Given the description of an element on the screen output the (x, y) to click on. 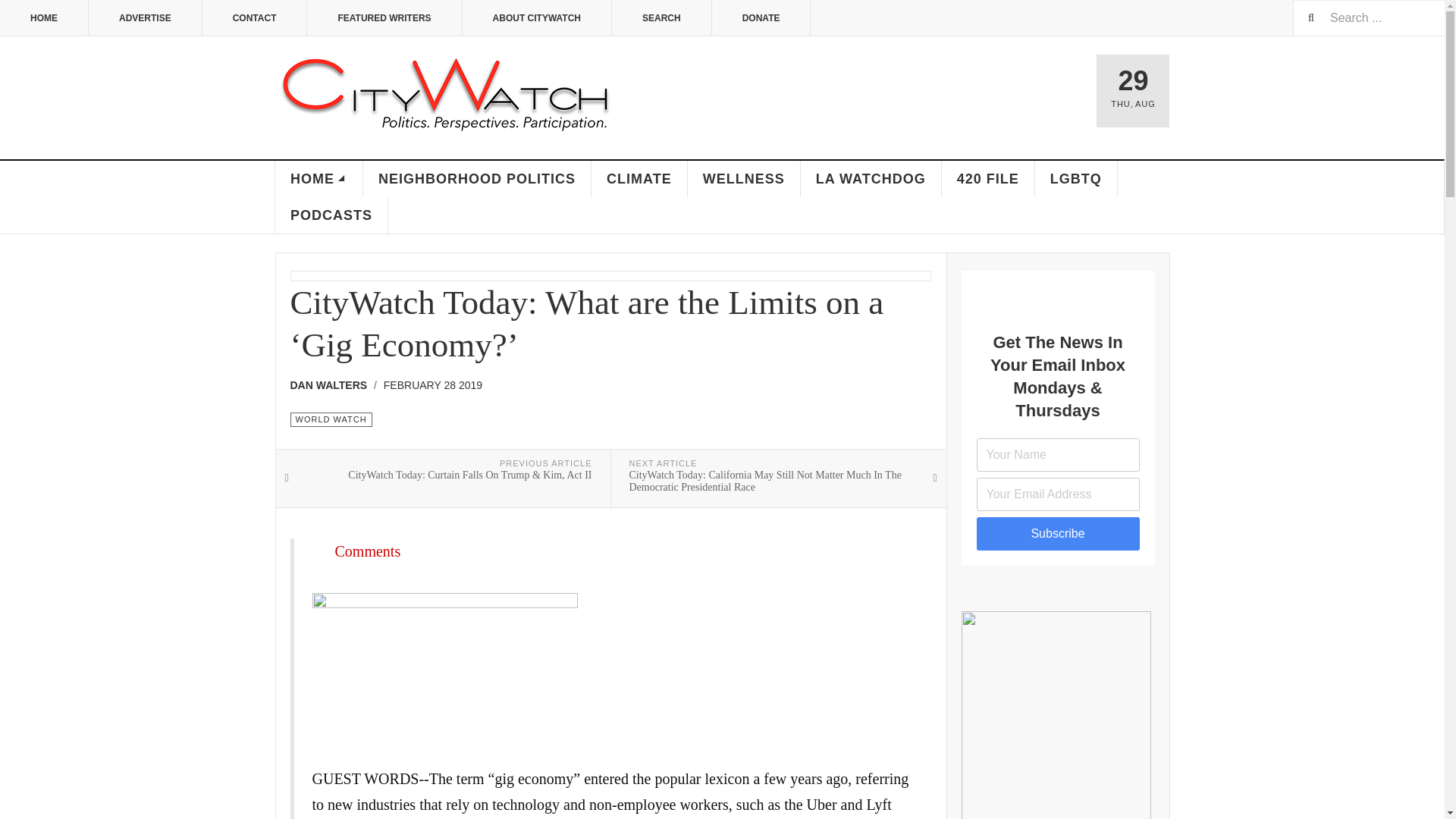
PODCASTS (331, 215)
SEARCH (661, 18)
LGBTQ (1076, 178)
FEATURED WRITERS (384, 18)
CityWatch Los Angeles (445, 94)
HOME (318, 178)
HOME (44, 18)
WELLNESS (743, 178)
CONTACT (254, 18)
Category:  (330, 419)
